Given the description of an element on the screen output the (x, y) to click on. 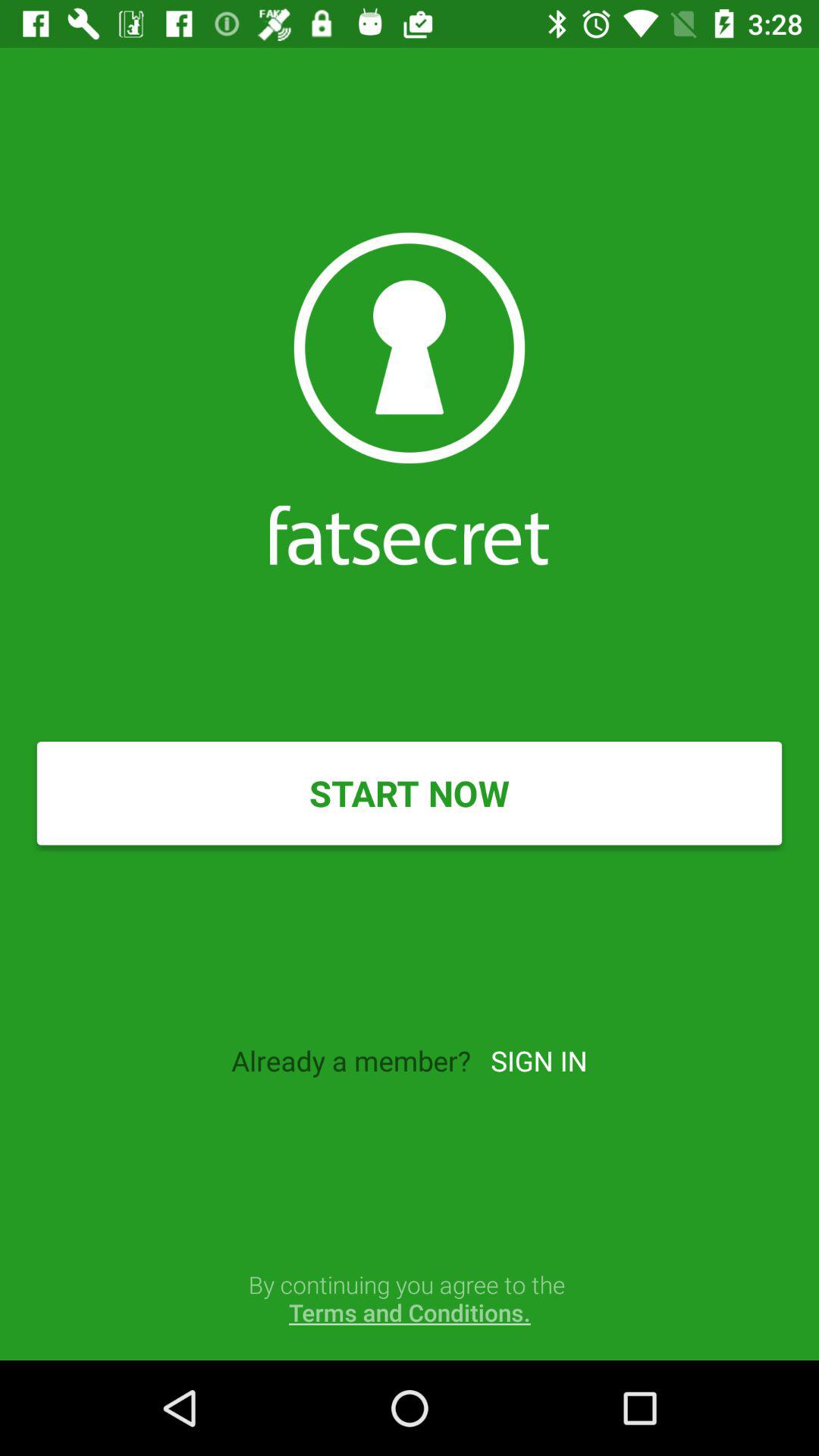
swipe to by continuing you item (409, 1298)
